Given the description of an element on the screen output the (x, y) to click on. 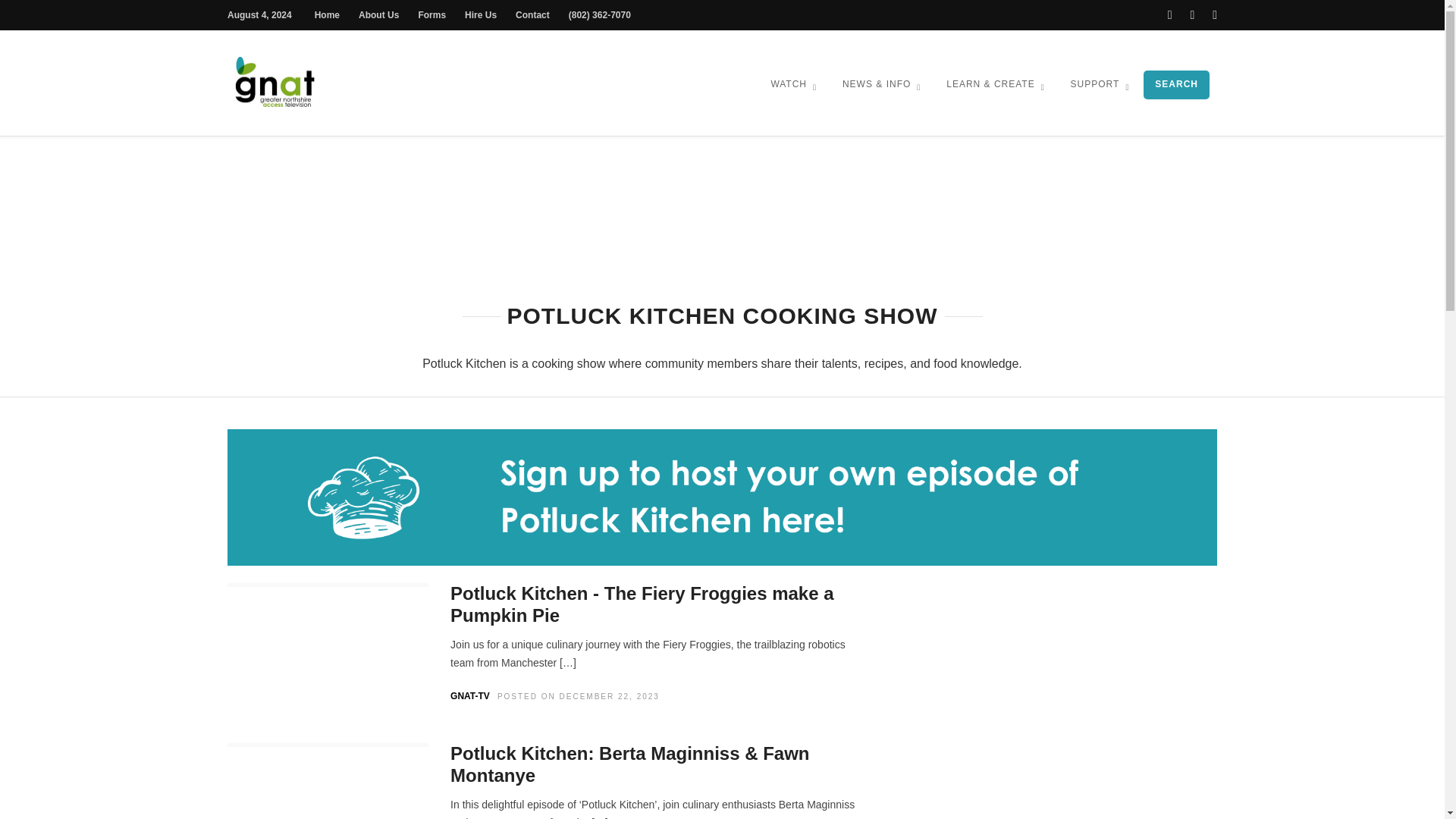
Potluck Kitchen - The Fiery Froggies make a Pumpkin Pie (640, 604)
